Given the description of an element on the screen output the (x, y) to click on. 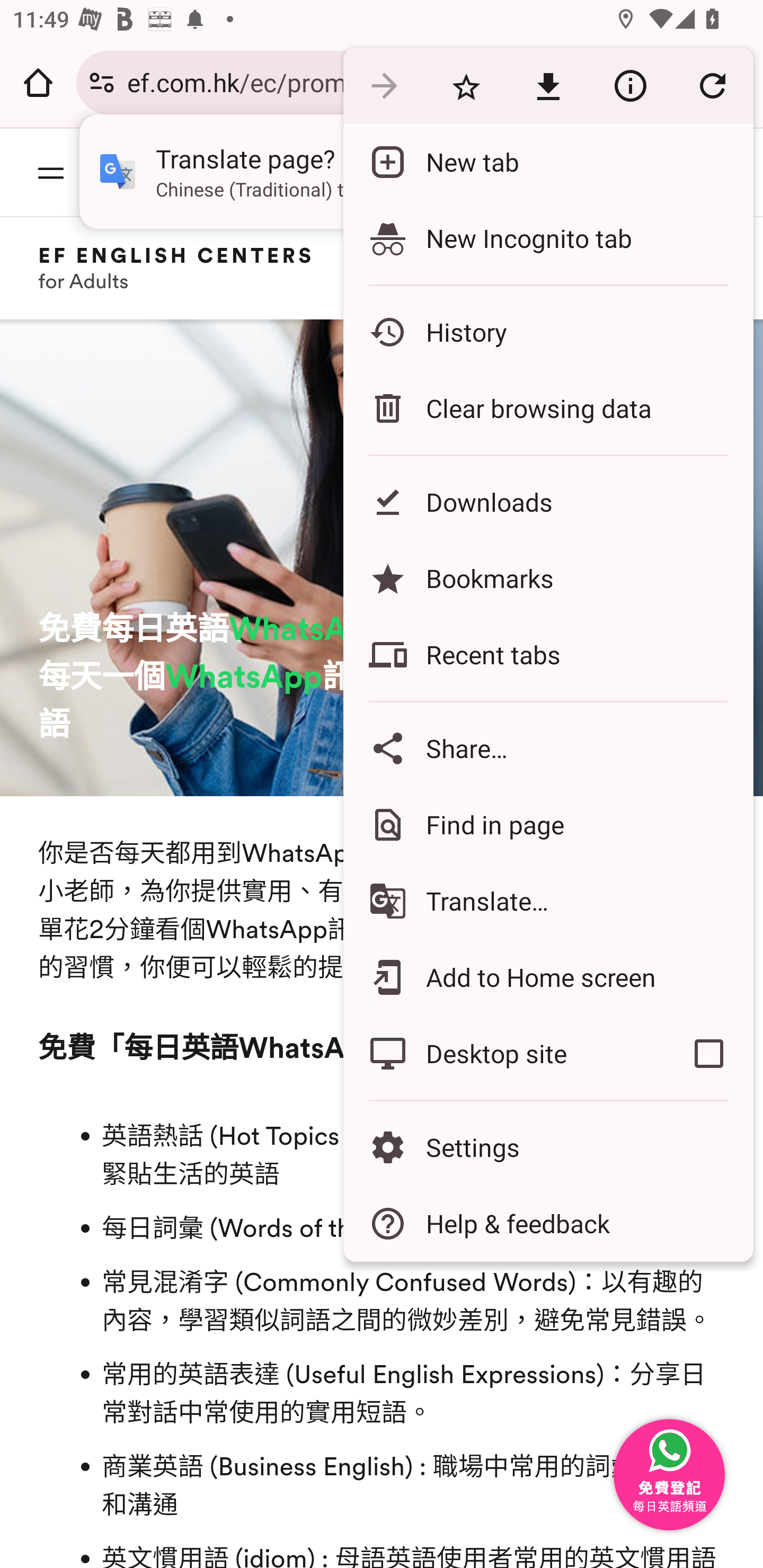
Forward (383, 85)
Bookmark (465, 85)
Download (548, 85)
Page info (630, 85)
Refresh (712, 85)
New tab (548, 161)
New Incognito tab (548, 237)
History (548, 332)
Clear browsing data (548, 408)
Downloads (548, 502)
Bookmarks (548, 578)
Recent tabs (548, 654)
Share… (548, 748)
Find in page (548, 824)
Translate… (548, 900)
Add to Home screen (548, 977)
Desktop site Turn on Request desktop site (503, 1053)
Settings (548, 1146)
Help & feedback (548, 1223)
